Given the description of an element on the screen output the (x, y) to click on. 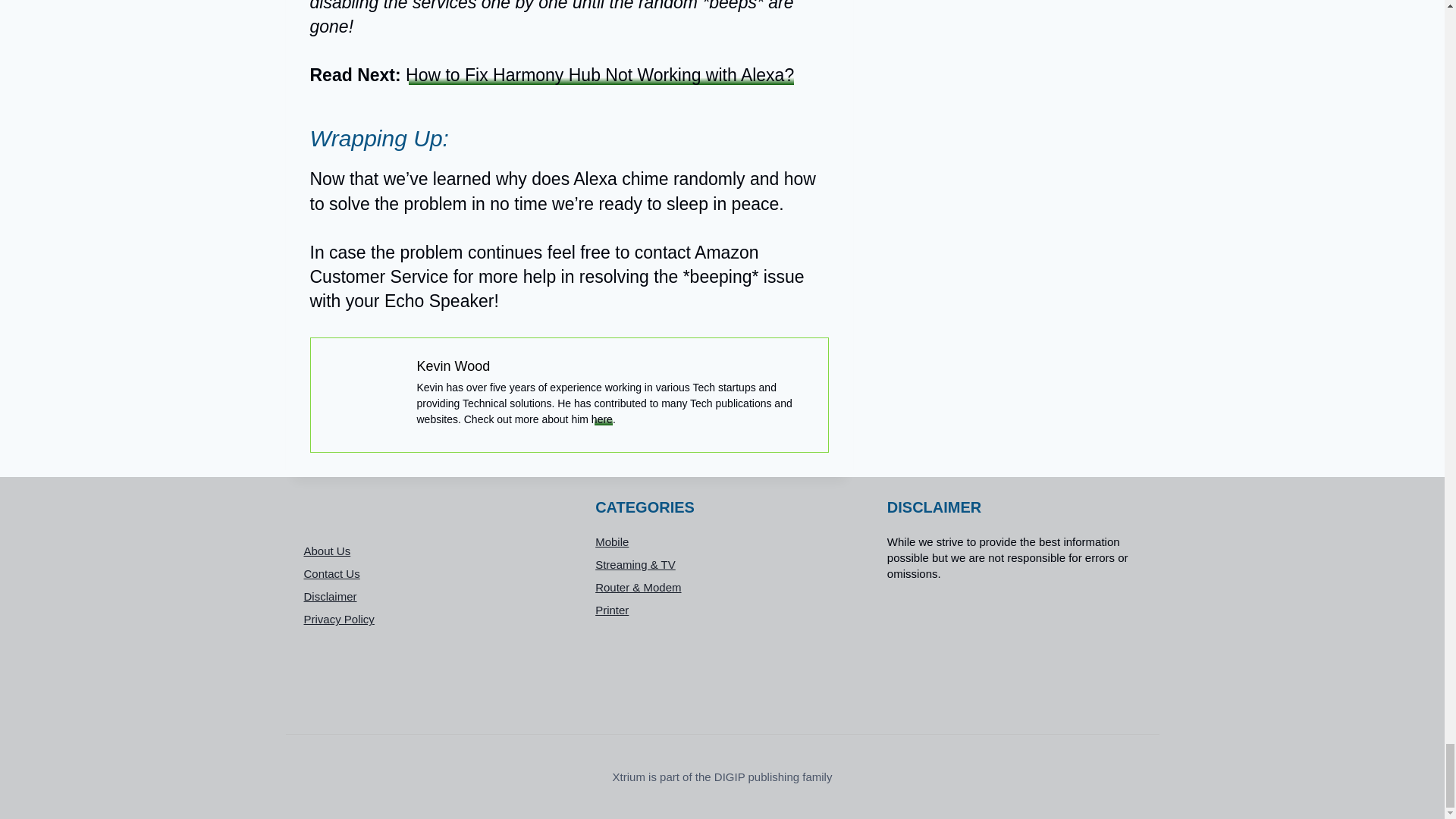
Mobile (721, 540)
DMCA.com Protection Status (1013, 649)
Contact Us (429, 573)
About Us (429, 550)
Kevin Wood (453, 365)
Privacy Policy (429, 619)
Disclaimer (429, 596)
here (601, 419)
How to Fix Harmony Hub Not Working with Alexa? (599, 75)
